Given the description of an element on the screen output the (x, y) to click on. 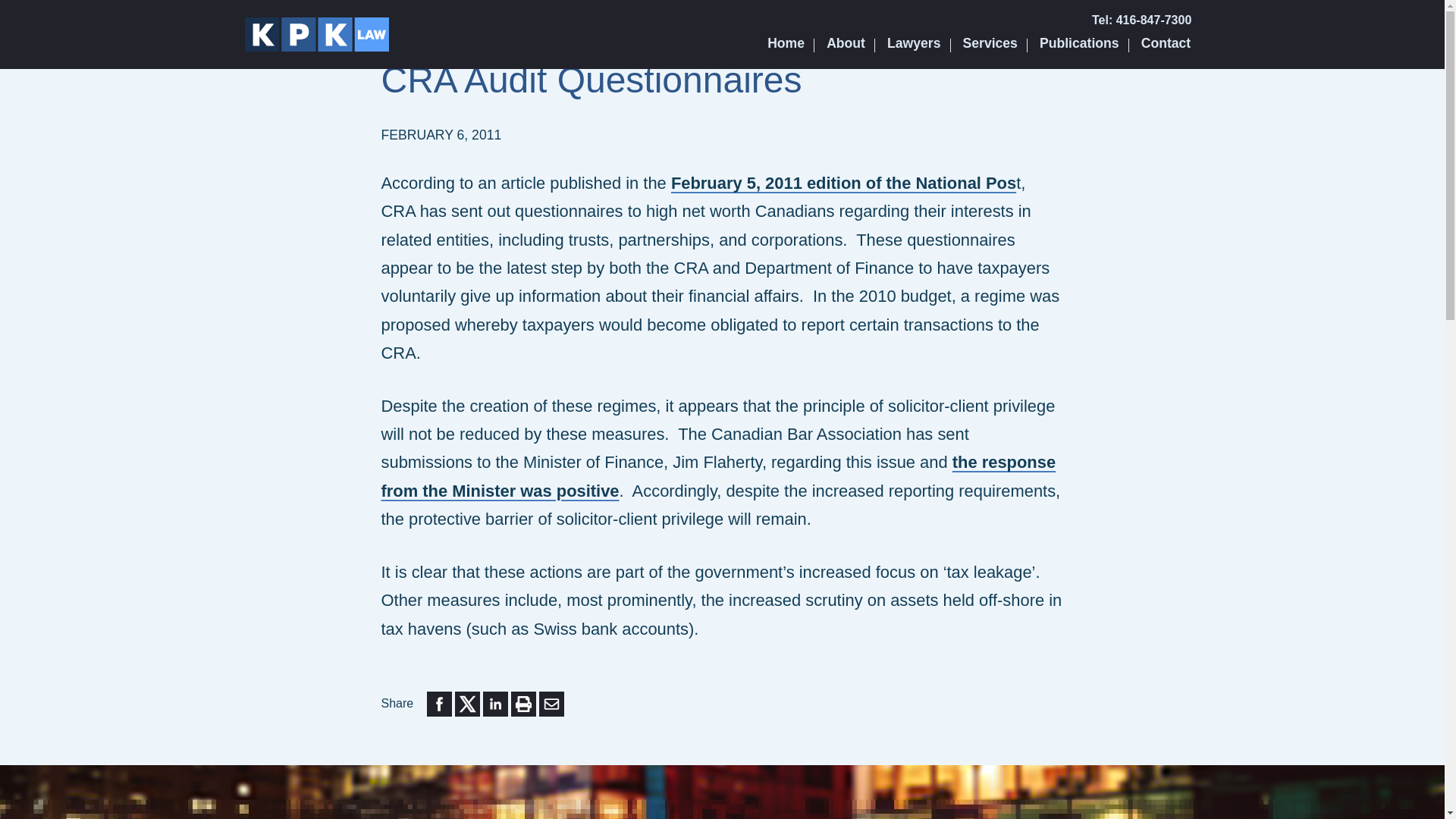
Print or save to PDF (523, 703)
Services (989, 43)
February 5, 2011 edition of the National Pos (843, 182)
Contact (1165, 43)
Send by email (551, 703)
Share to Twitter (467, 703)
Publications (1079, 43)
Lawyers (913, 43)
Share to Facebook (438, 703)
About (845, 43)
